Given the description of an element on the screen output the (x, y) to click on. 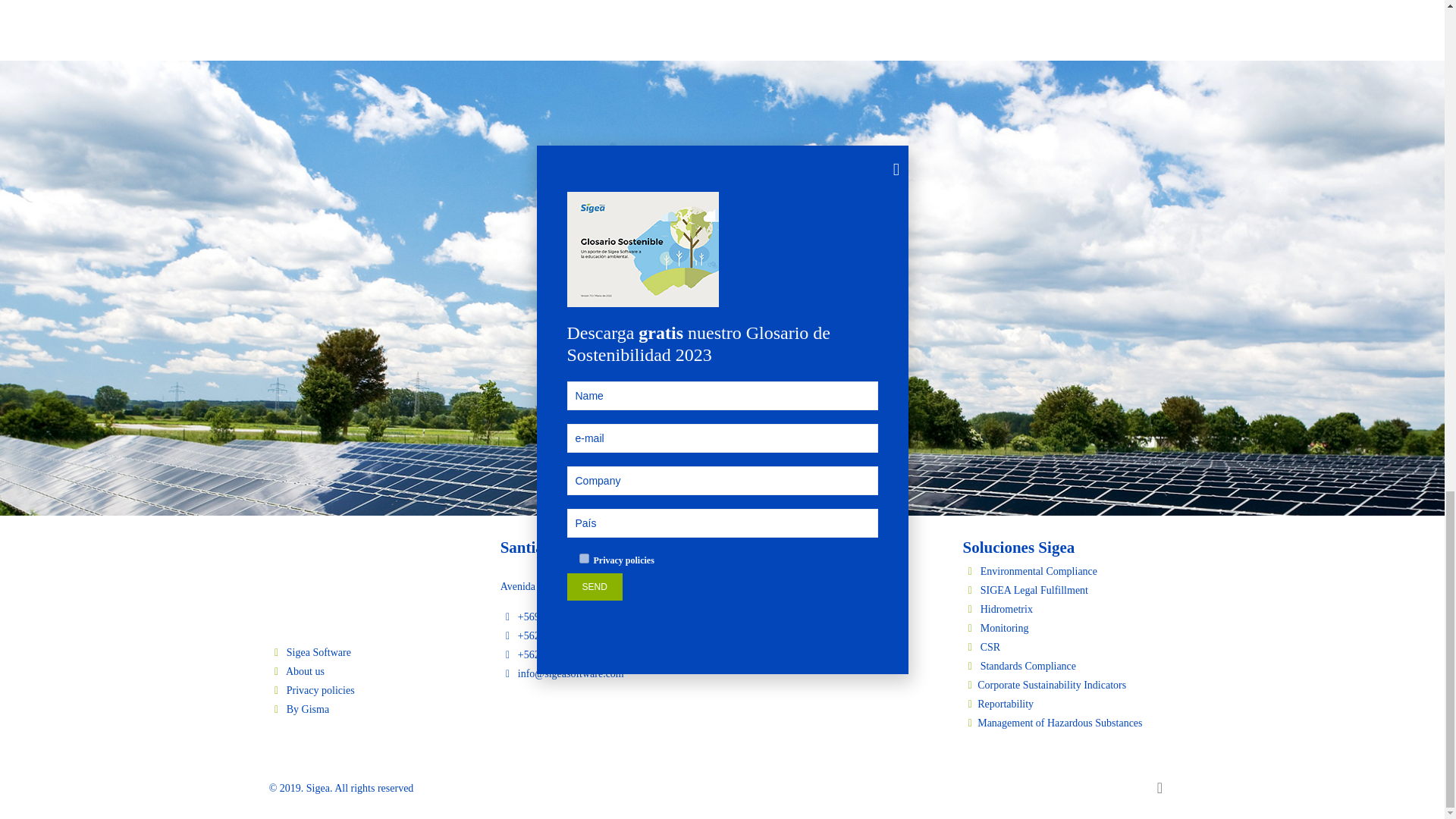
Monitoring (1069, 628)
Hidrometrix (1069, 609)
Corporate Sustainability Indicators (1069, 684)
Environmental Compliance (1069, 570)
Sigea Software (375, 651)
Privacy policies (375, 690)
Standards Compliance (1069, 665)
LinkedIn (1120, 787)
CSR (1069, 647)
About us (375, 670)
By Gisma (375, 709)
SIGEA Legal Fulfillment (1069, 589)
